Given the description of an element on the screen output the (x, y) to click on. 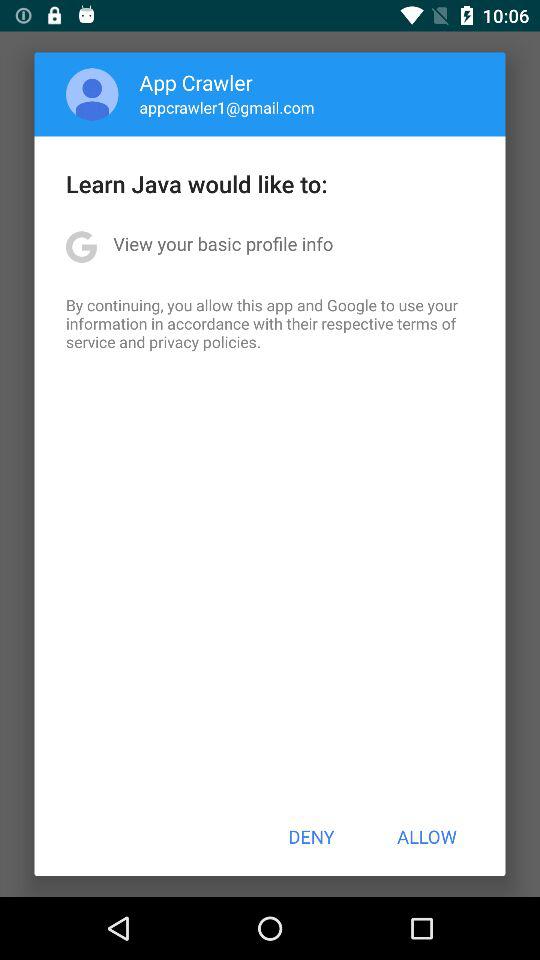
press the icon below the app crawler (226, 107)
